Given the description of an element on the screen output the (x, y) to click on. 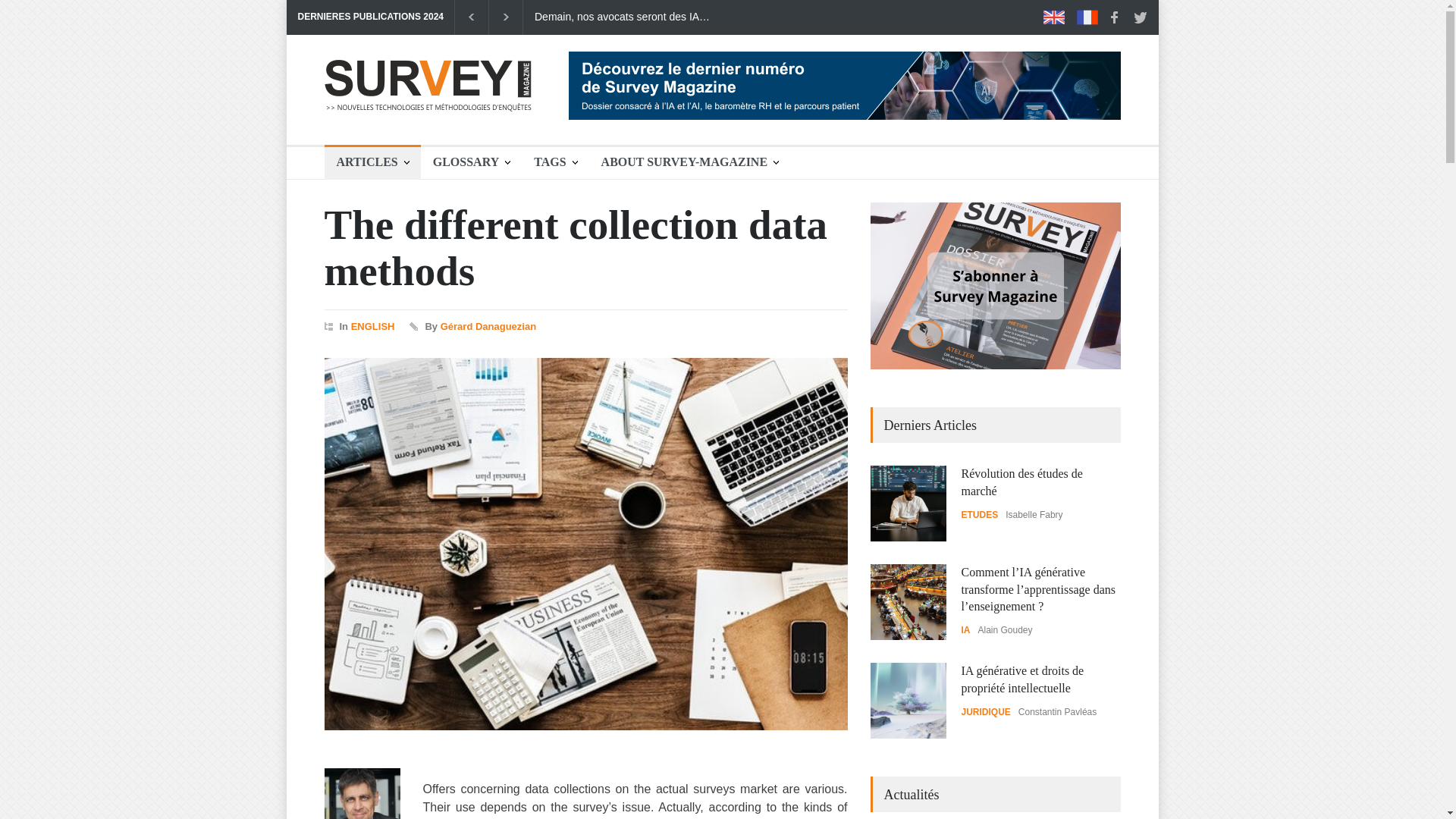
Tags (554, 162)
Articles in English (1053, 16)
Accueil (428, 116)
ARTICLES (372, 162)
Glossary (470, 162)
About (689, 162)
Articles (372, 162)
TAGS (554, 162)
ENGLISH (372, 326)
